Given the description of an element on the screen output the (x, y) to click on. 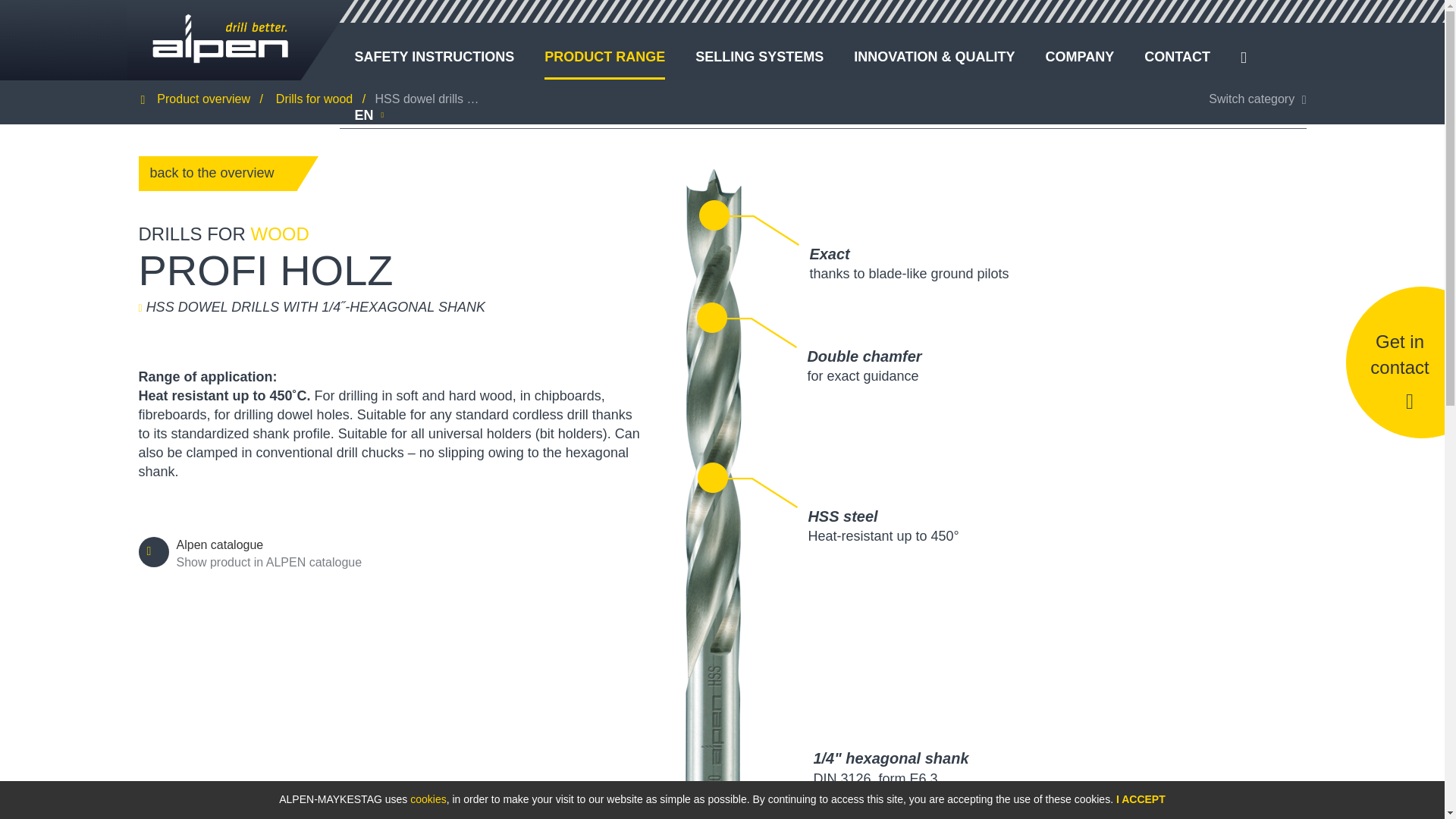
CONTACT (1176, 56)
SAFETY INSTRUCTIONS (435, 56)
SELLING SYSTEMS (759, 56)
PRODUCT RANGE (604, 56)
ALPEN-MAYKESTAG (241, 40)
COMPANY (1080, 56)
